Given the description of an element on the screen output the (x, y) to click on. 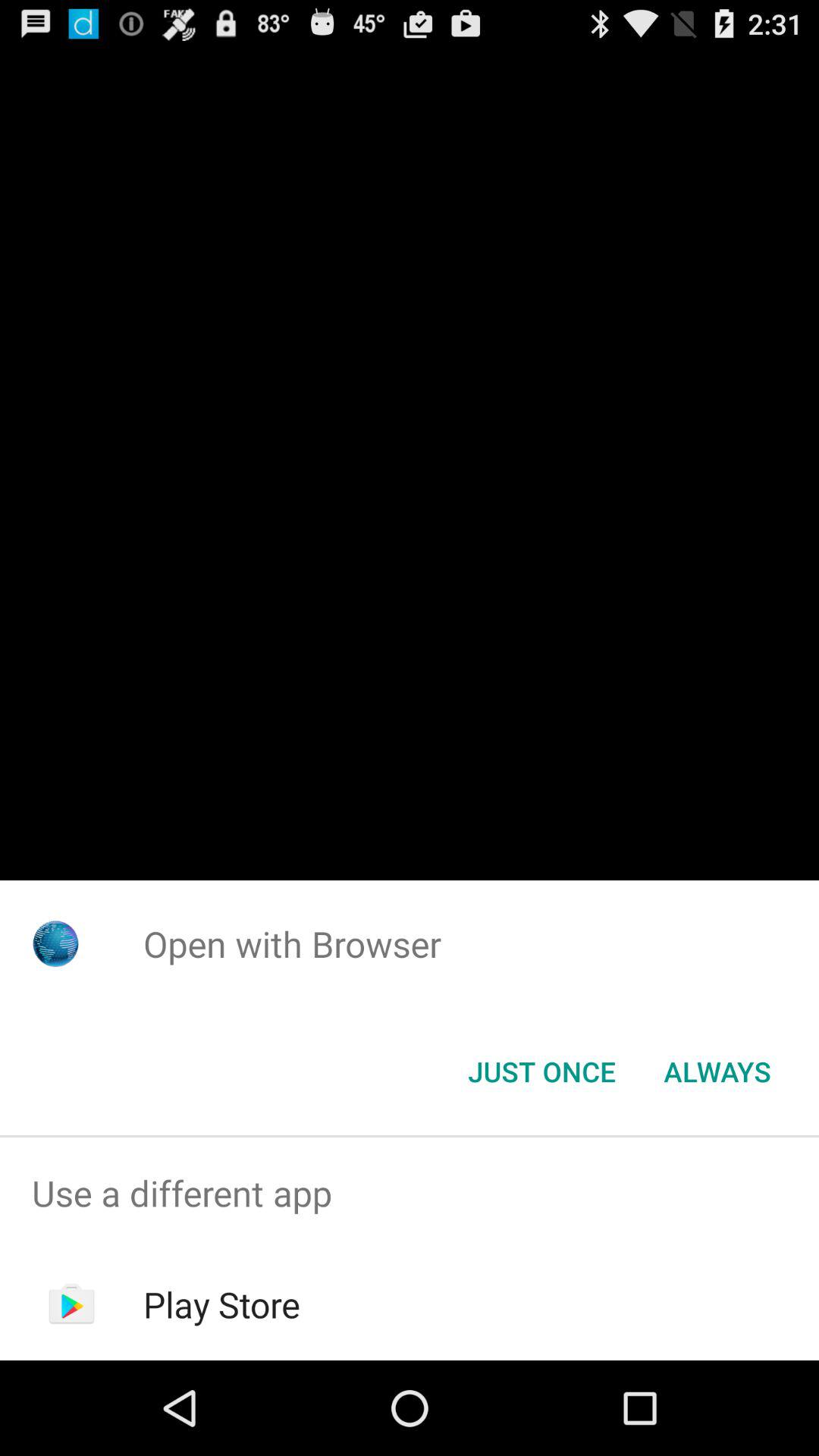
flip to always button (717, 1071)
